Given the description of an element on the screen output the (x, y) to click on. 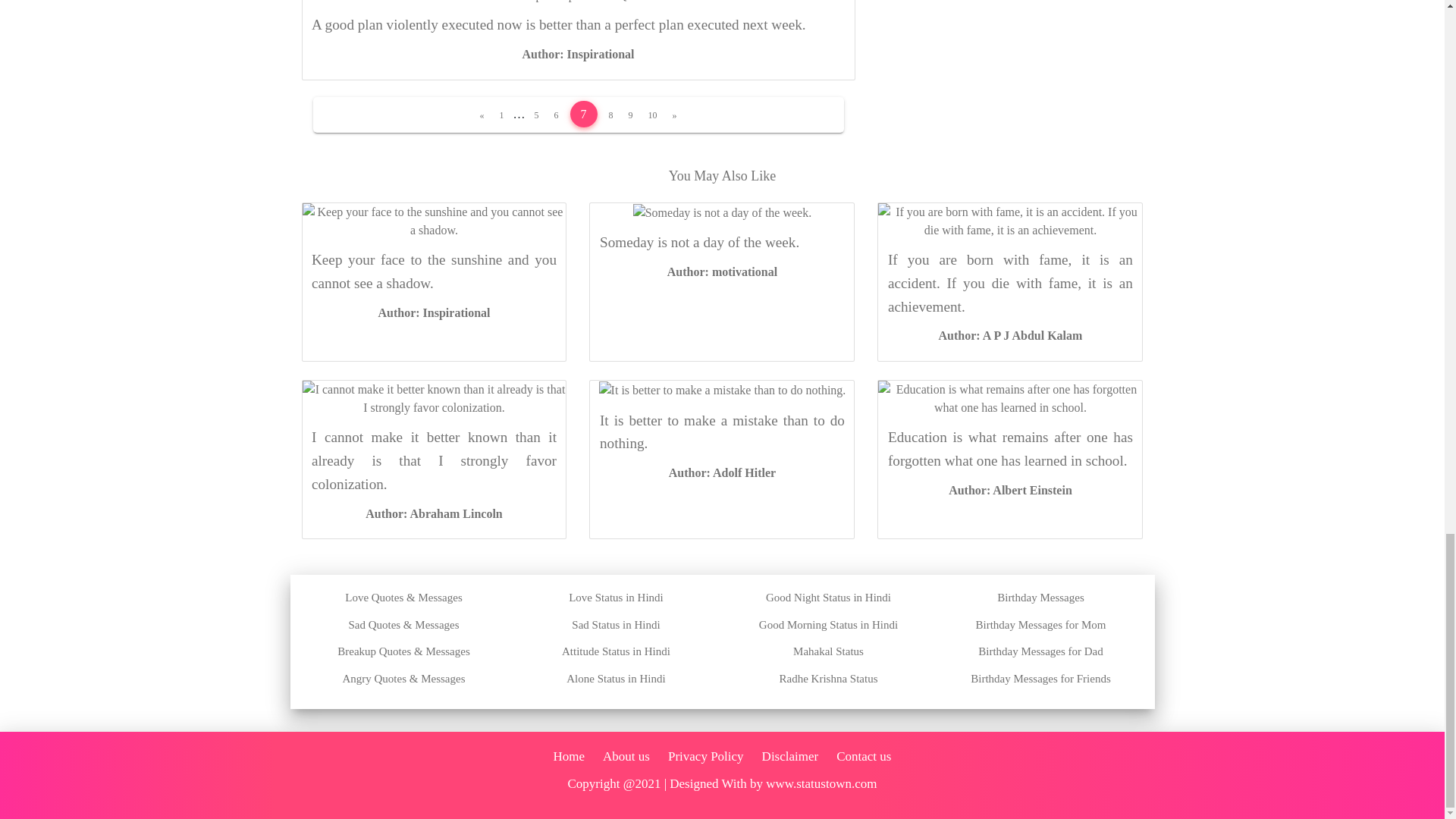
1 (502, 114)
Author: Abraham Lincoln (433, 513)
9 (630, 114)
6 (556, 114)
Someday is not a day of the week. - motivational  quotes (722, 211)
Author: A P J Abdul Kalam (1011, 335)
10 (653, 114)
motivational  quotes (721, 271)
